Given the description of an element on the screen output the (x, y) to click on. 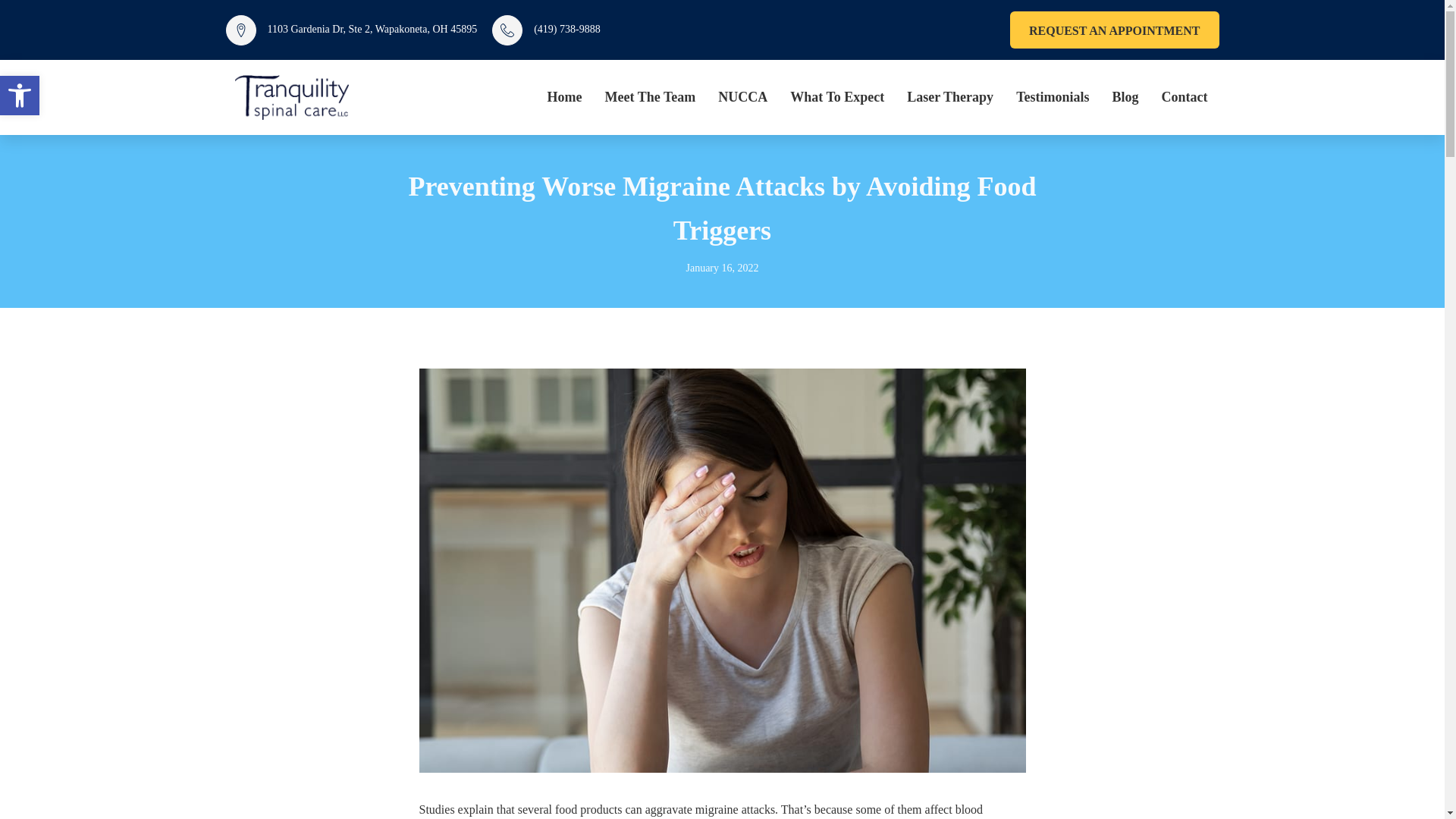
NUCCA (742, 97)
What To Expect (836, 97)
1103 Gardenia Dr, Ste 2, Wapakoneta, OH 45895 (351, 30)
REQUEST AN APPOINTMENT (1115, 29)
Laser Therapy (949, 97)
Meet The Team (650, 97)
Testimonials (1052, 97)
Accessibility Tools (19, 95)
Accessibility Tools (19, 95)
Contact (1184, 97)
